Given the description of an element on the screen output the (x, y) to click on. 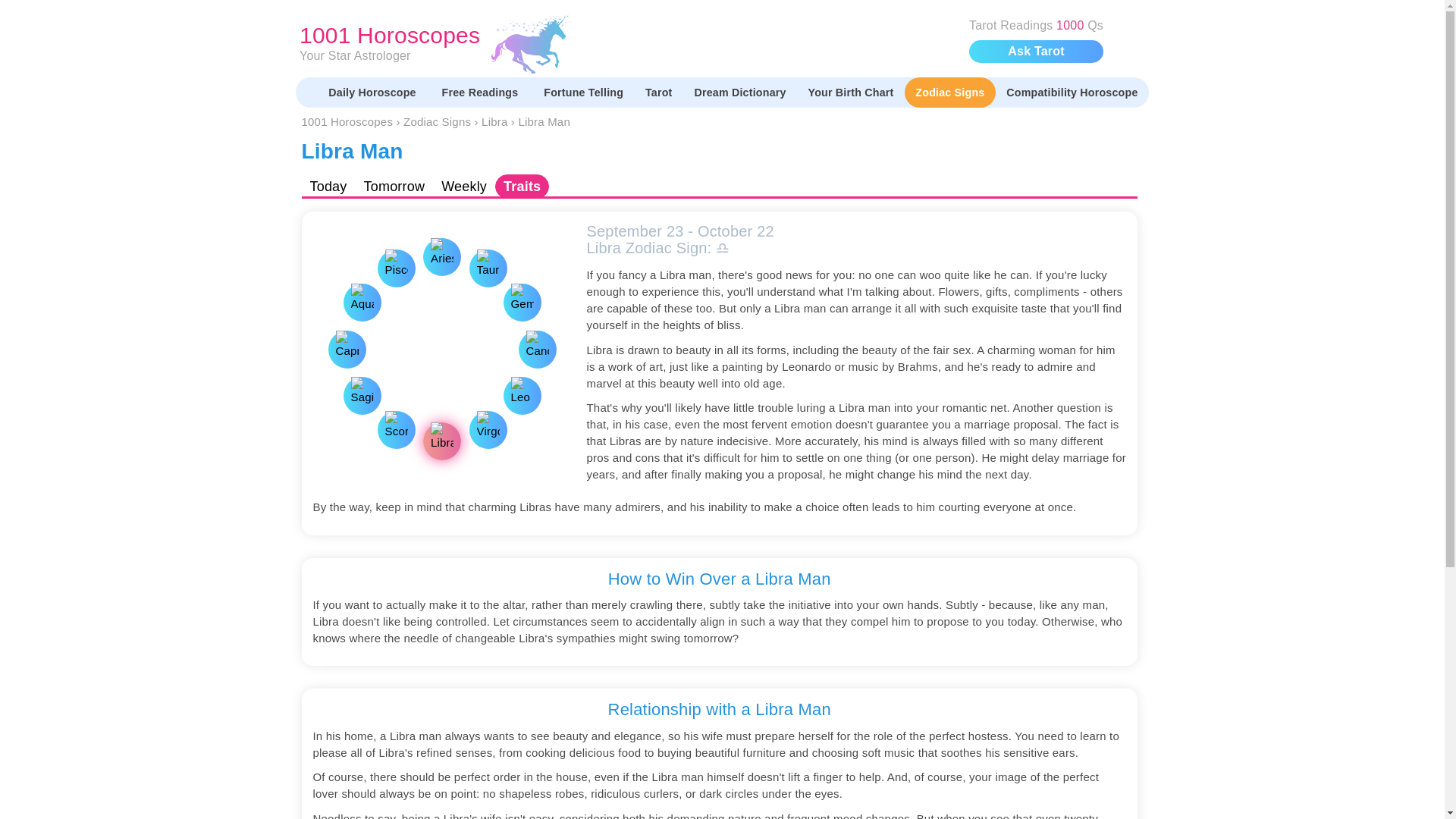
Libra Man (544, 121)
Zodiac Signs (438, 121)
Free Readings (481, 91)
Daily Horoscope (373, 91)
1001 Horoscopes (347, 121)
Dream Dictionary (626, 43)
Fortune Telling (739, 91)
Zodiac Signs (583, 91)
Your Birth Chart (949, 91)
